Given the description of an element on the screen output the (x, y) to click on. 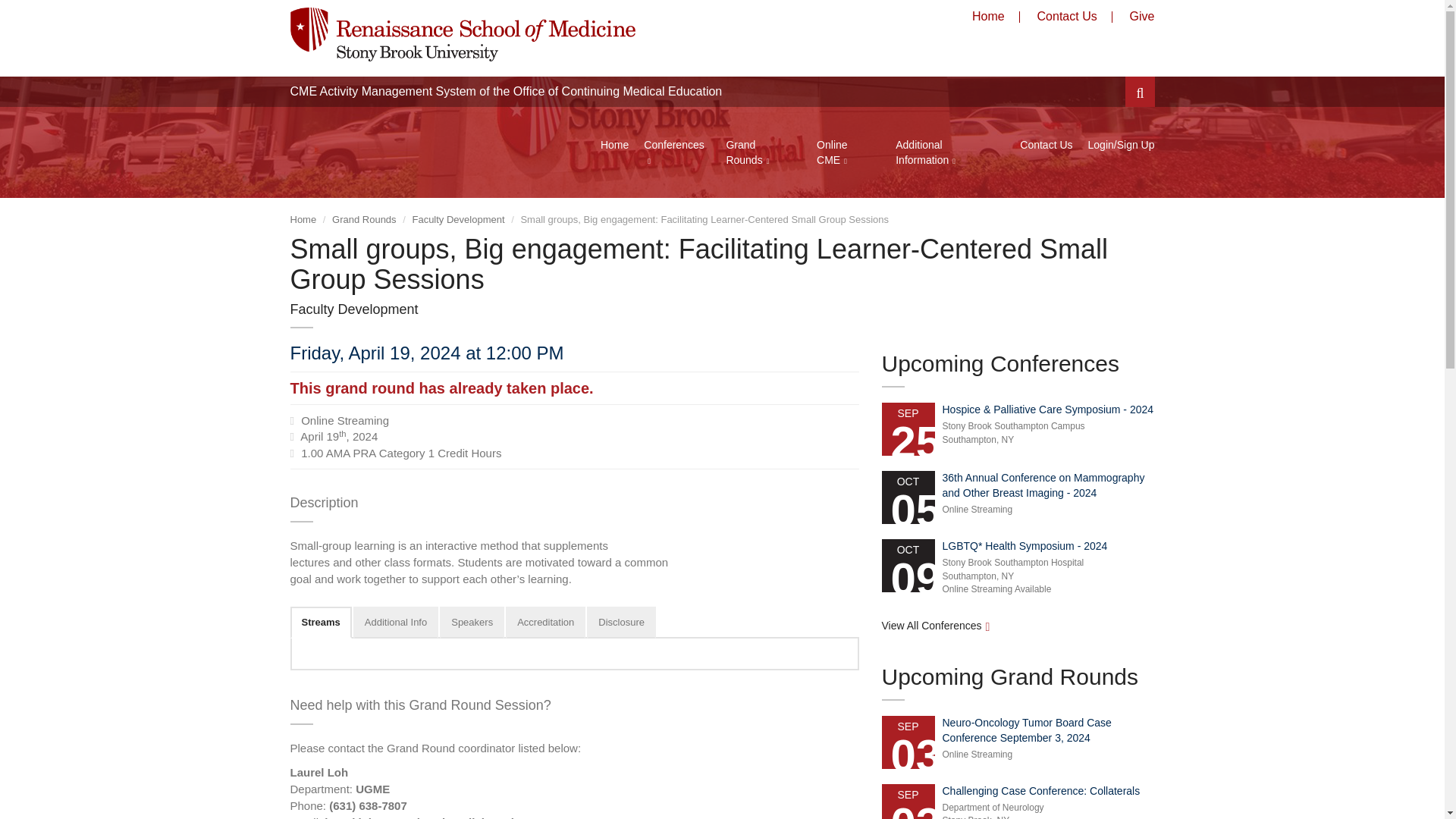
Disclosure (621, 622)
Give (1141, 15)
Streams (319, 622)
Conferences (669, 152)
Speakers (471, 622)
Faculty Development (457, 219)
Home (988, 15)
Accreditation (545, 622)
Contact Us (1066, 15)
Additional Info (395, 622)
